Given the description of an element on the screen output the (x, y) to click on. 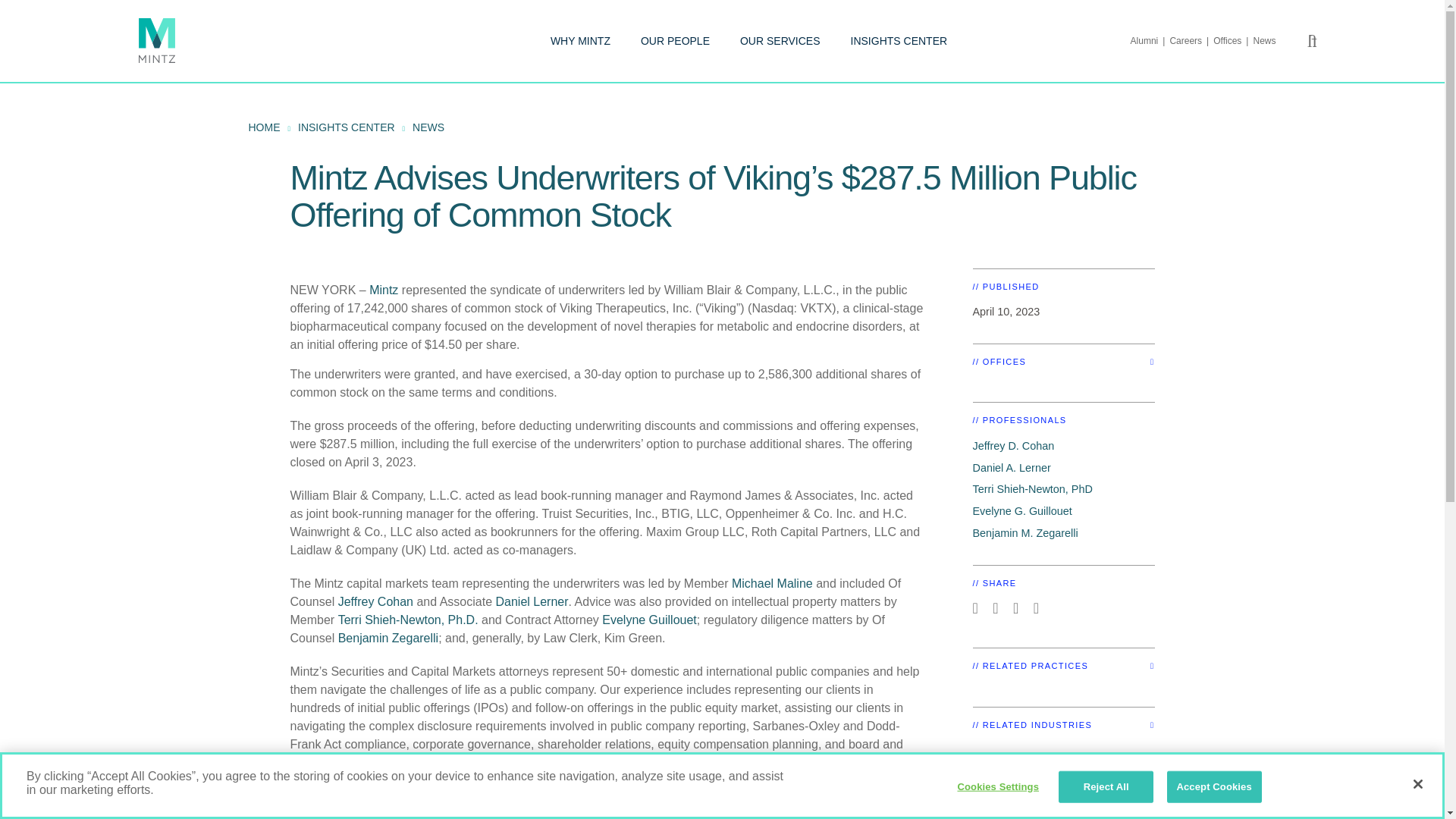
HOME (264, 127)
OUR SERVICES (780, 40)
Alumni (1150, 40)
Jeffrey Cohan (375, 601)
Daniel A. Lerner (1010, 467)
INSIGHTS CENTER (898, 40)
Careers (1190, 40)
Terri Shieh-Newton, PhD (1032, 489)
News (1263, 40)
NEWS (428, 127)
OUR PEOPLE (675, 40)
Mintz (383, 289)
Terri Shieh-Newton, Ph.D. (408, 619)
www.mintz.com (580, 795)
